Given the description of an element on the screen output the (x, y) to click on. 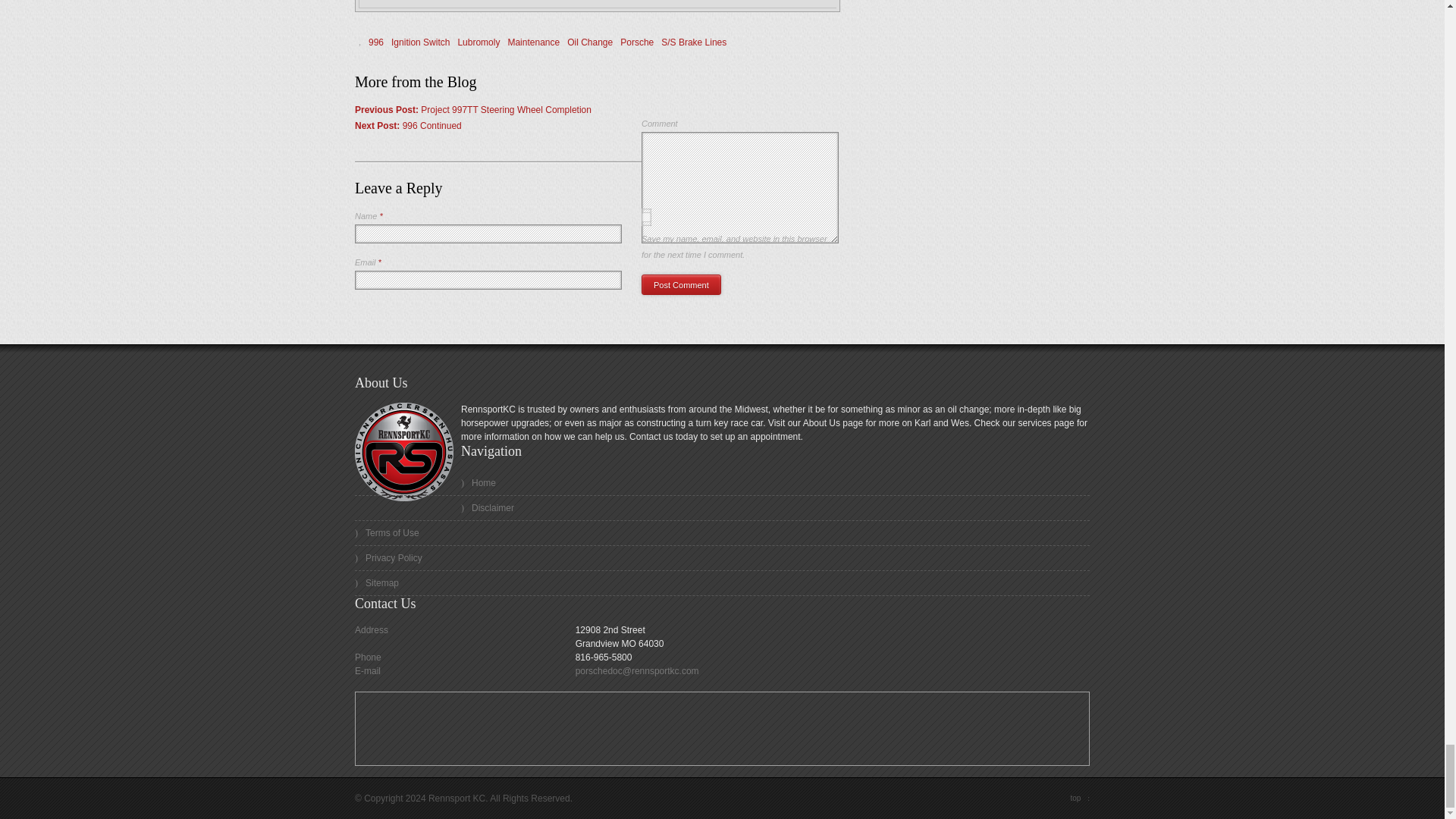
Post Comment (681, 284)
top : (1079, 798)
Ignition Switch (420, 41)
Sitemap (722, 583)
Porsche (636, 41)
Post Comment (681, 284)
Privacy Policy (722, 558)
Terms of Use (722, 533)
Previous Post: Project 997TT Steering Wheel Completion (473, 109)
Next Post: 996 Continued (408, 125)
